Given the description of an element on the screen output the (x, y) to click on. 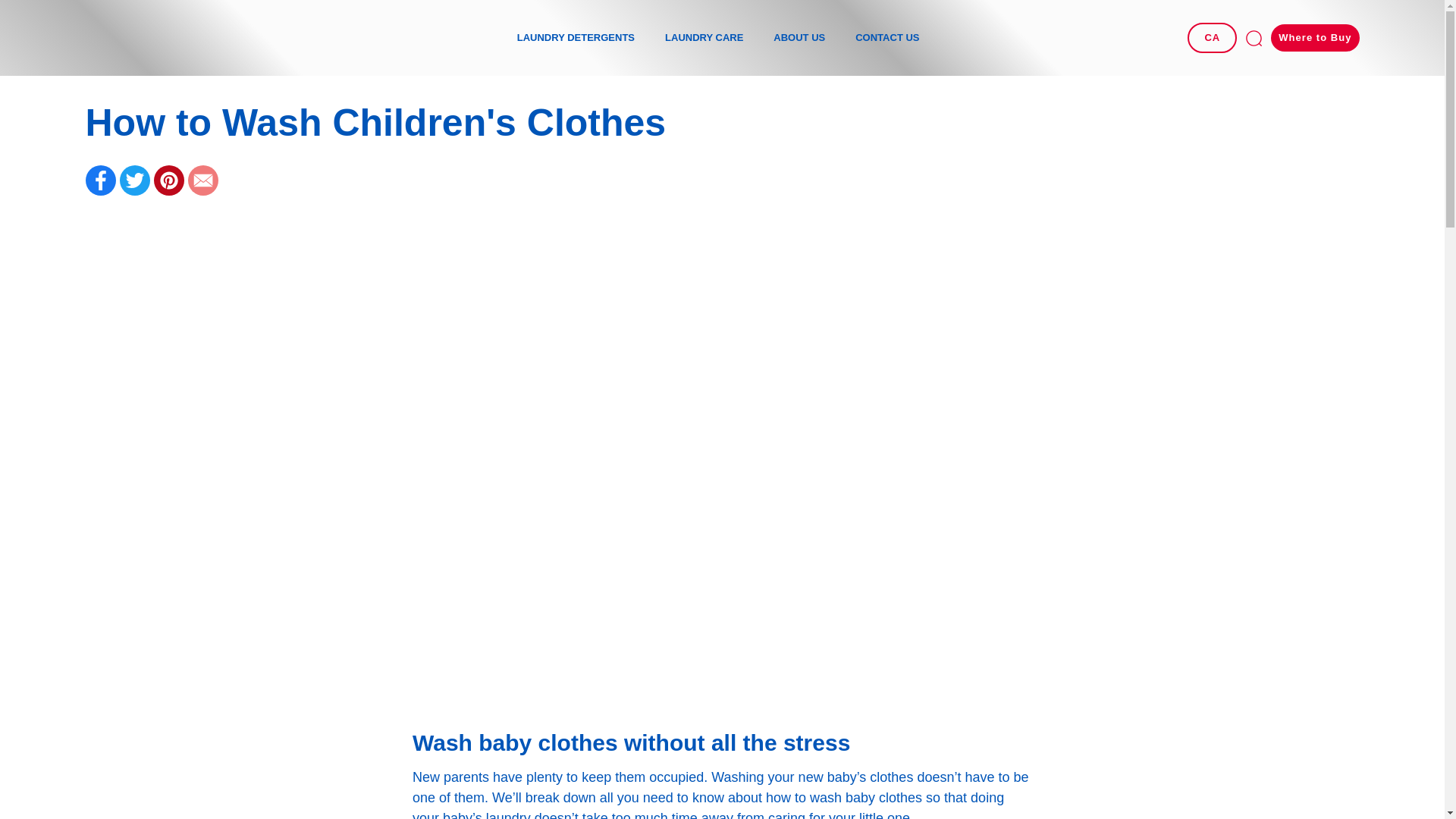
CA (1212, 37)
ABOUT US (799, 37)
CONTACT US (887, 37)
LAUNDRY DETERGENTS (575, 37)
LAUNDRY CARE (703, 37)
Where to Buy (1314, 37)
